Given the description of an element on the screen output the (x, y) to click on. 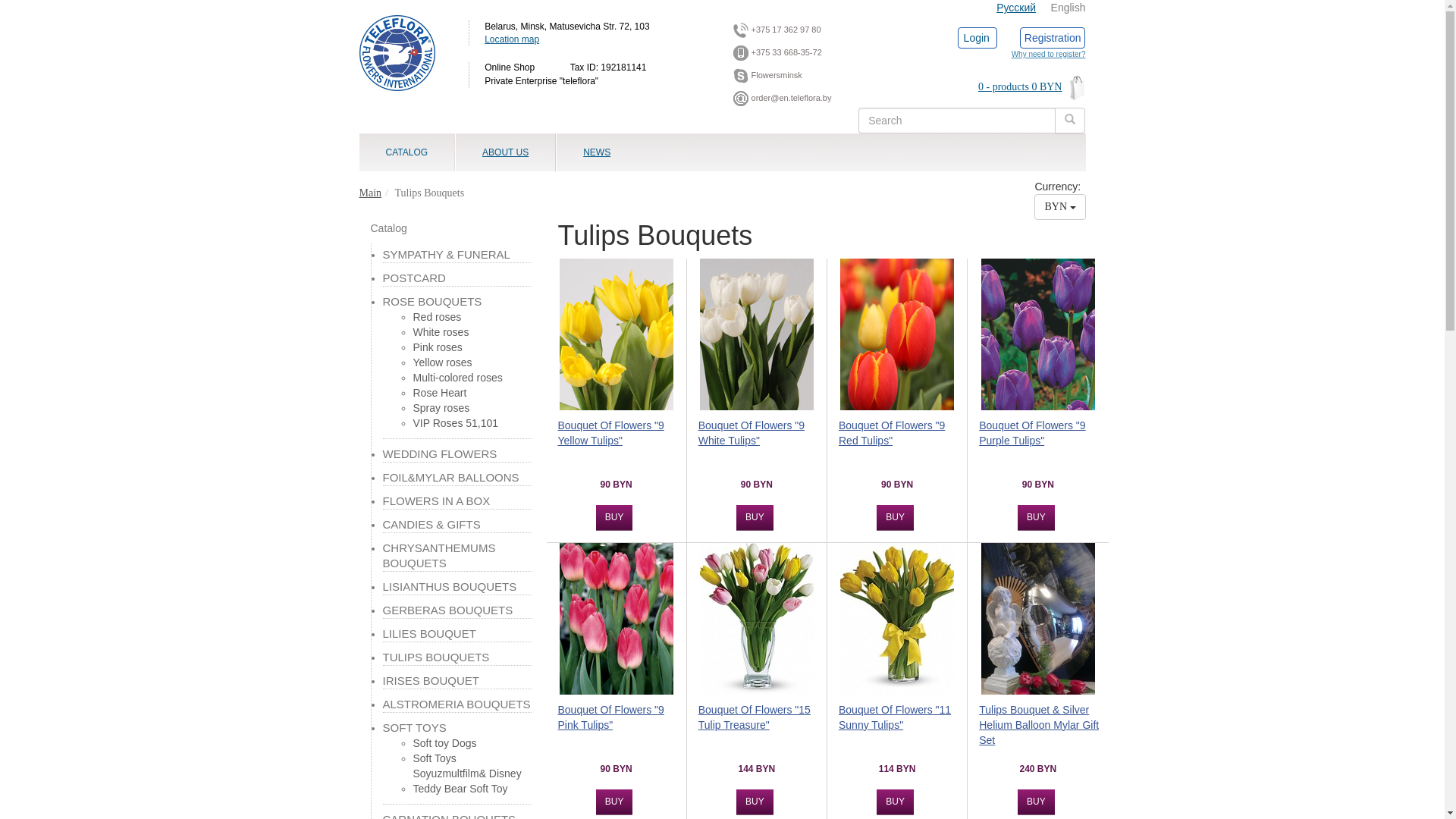
LISIANTHUS BOUQUETS Element type: text (449, 586)
Location map Element type: text (511, 39)
Bouquet Of Flowers "11 Sunny Tulips" Element type: text (900, 722)
TULIPS BOUQUETS Element type: text (435, 656)
ROSE BOUQUETS Element type: text (431, 300)
IRISES BOUQUET Element type: text (430, 680)
Soft toy Dogs Element type: text (444, 743)
BUY Element type: text (754, 802)
Bouquet Of Flowers "9 Yellow Tulips" Element type: text (620, 438)
WEDDING FLOWERS Element type: text (439, 453)
Multi-colored roses Element type: text (457, 377)
Why need to register? Element type: text (1048, 54)
FOIL&MYLAR BALLOONS Element type: text (450, 476)
BUY Element type: text (1035, 517)
Bouquet Of Flowers "15 Tulip Treasure" Element type: text (760, 722)
Bouquet Of Flowers "9 Pink Tulips" Element type: text (620, 722)
Rose Heart Element type: text (439, 392)
GERBERAS BOUQUETS Element type: text (447, 609)
SOFT TOYS Element type: text (413, 727)
VIP Roses 51,101 Element type: text (455, 423)
Pink roses Element type: text (436, 347)
LILIES BOUQUET Element type: text (428, 633)
Bouquet Of Flowers "9 Purple Tulips" Element type: text (1041, 438)
FLOWERS IN A BOX Element type: text (435, 500)
Soft Toys Soyuzmultfilm& Disney Element type: text (466, 765)
BUY Element type: text (614, 802)
Bouquet Of Flowers "9 Red Tulips" Element type: text (900, 438)
Bouquet Of Flowers "9 White Tulips" Element type: text (760, 438)
BUY Element type: text (614, 517)
BUY Element type: text (894, 802)
BUY Element type: text (894, 517)
Login Element type: text (975, 37)
Tulips Bouquet & Silver Helium Balloon Mylar Gift Set Element type: text (1041, 722)
NEWS Element type: text (596, 152)
ABOUT US Element type: text (505, 152)
ALSTROMERIA BOUQUETS Element type: text (456, 703)
Teddy Bear Soft Toy Element type: text (459, 788)
Yellow roses Element type: text (441, 362)
Spray roses Element type: text (440, 407)
CHRYSANTHEMUMS BOUQUETS Element type: text (438, 555)
Main Element type: text (370, 192)
CANDIES & GIFTS Element type: text (431, 523)
BUY Element type: text (1035, 802)
BUY Element type: text (754, 517)
BYN Element type: text (1059, 206)
SYMPATHY & FUNERAL Element type: text (445, 253)
Red roses Element type: text (436, 316)
POSTCARD Element type: text (413, 277)
CATALOG Element type: text (407, 152)
White roses Element type: text (440, 332)
Registration Element type: text (1052, 37)
0 - products 0 BYN Element type: text (1001, 84)
